Given the description of an element on the screen output the (x, y) to click on. 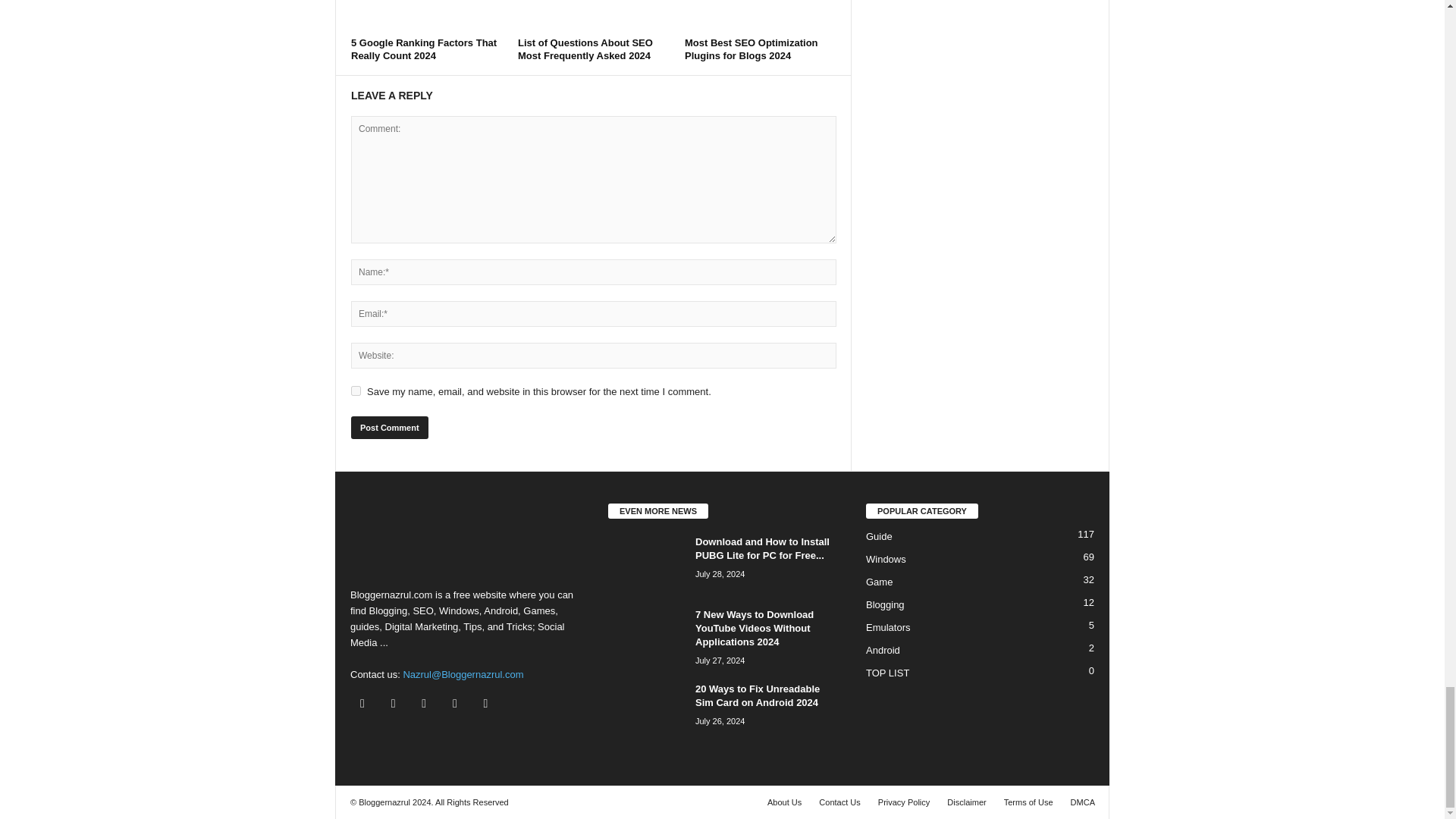
yes (355, 390)
Post Comment (389, 427)
